Given the description of an element on the screen output the (x, y) to click on. 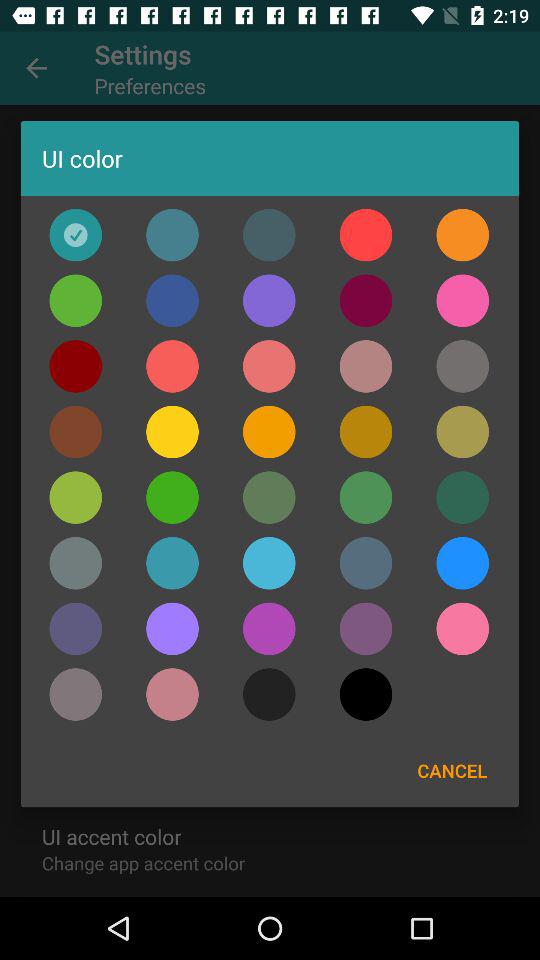
choose color gray (75, 563)
